Given the description of an element on the screen output the (x, y) to click on. 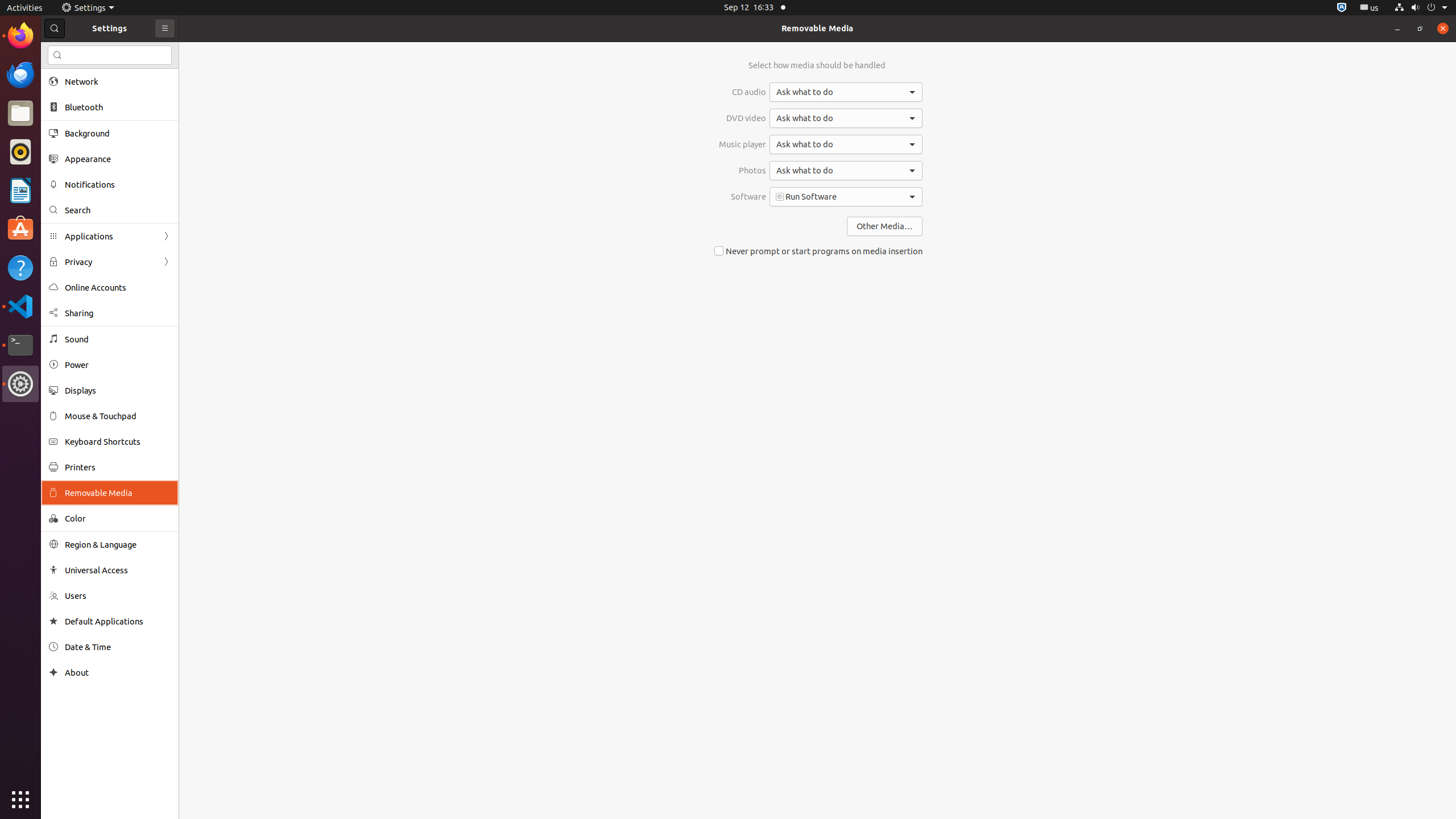
CD audio Element type: label (742, 91)
Music player Element type: label (742, 144)
Search Element type: text (109, 54)
Trash Element type: label (75, 108)
Select how media should be handled Element type: label (816, 64)
